Given the description of an element on the screen output the (x, y) to click on. 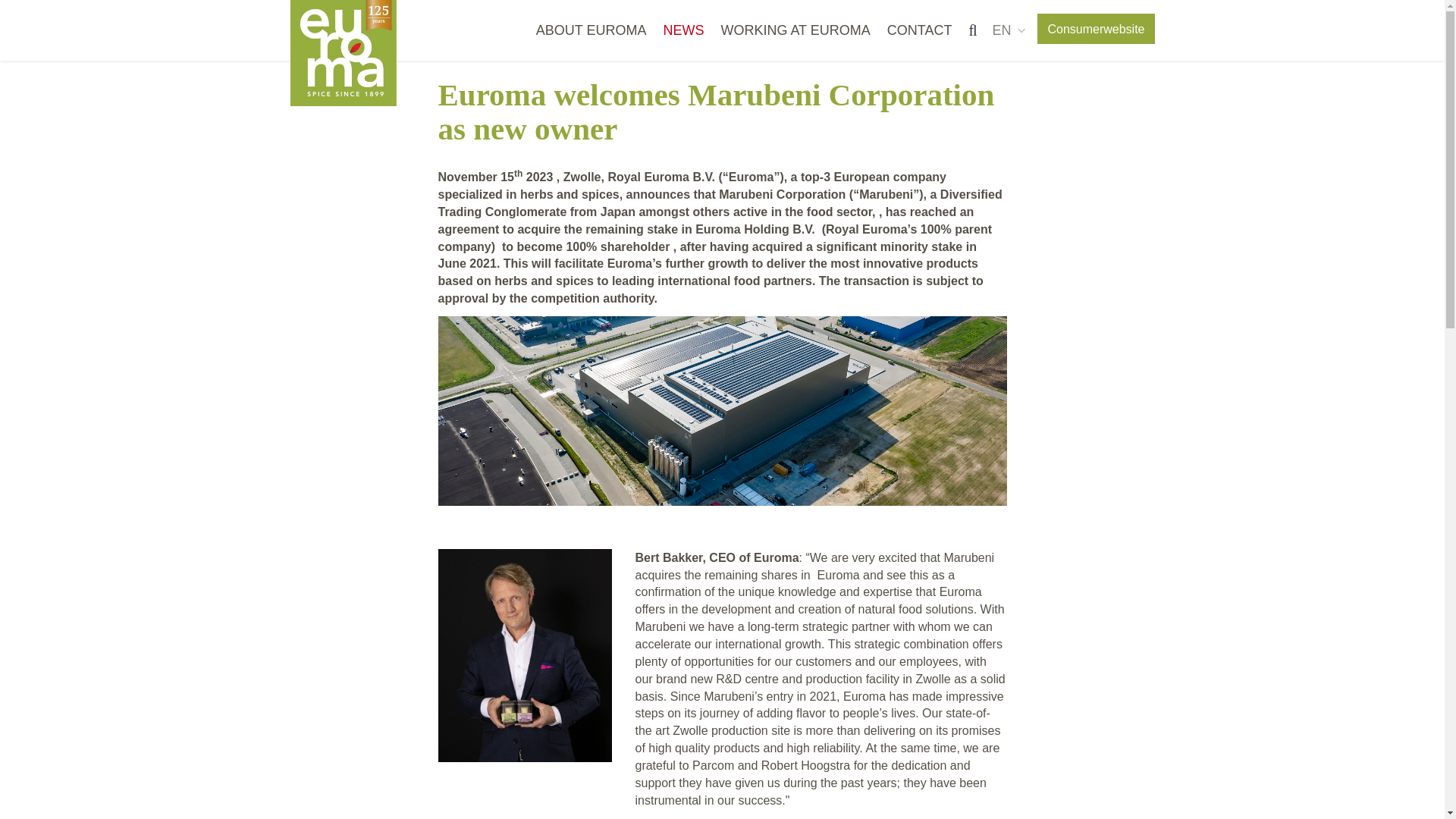
WORKING AT EUROMA (794, 30)
ABOUT EUROMA (591, 30)
Consumerwebsite (1095, 28)
NEWS (682, 30)
CONTACT (919, 30)
